Given the description of an element on the screen output the (x, y) to click on. 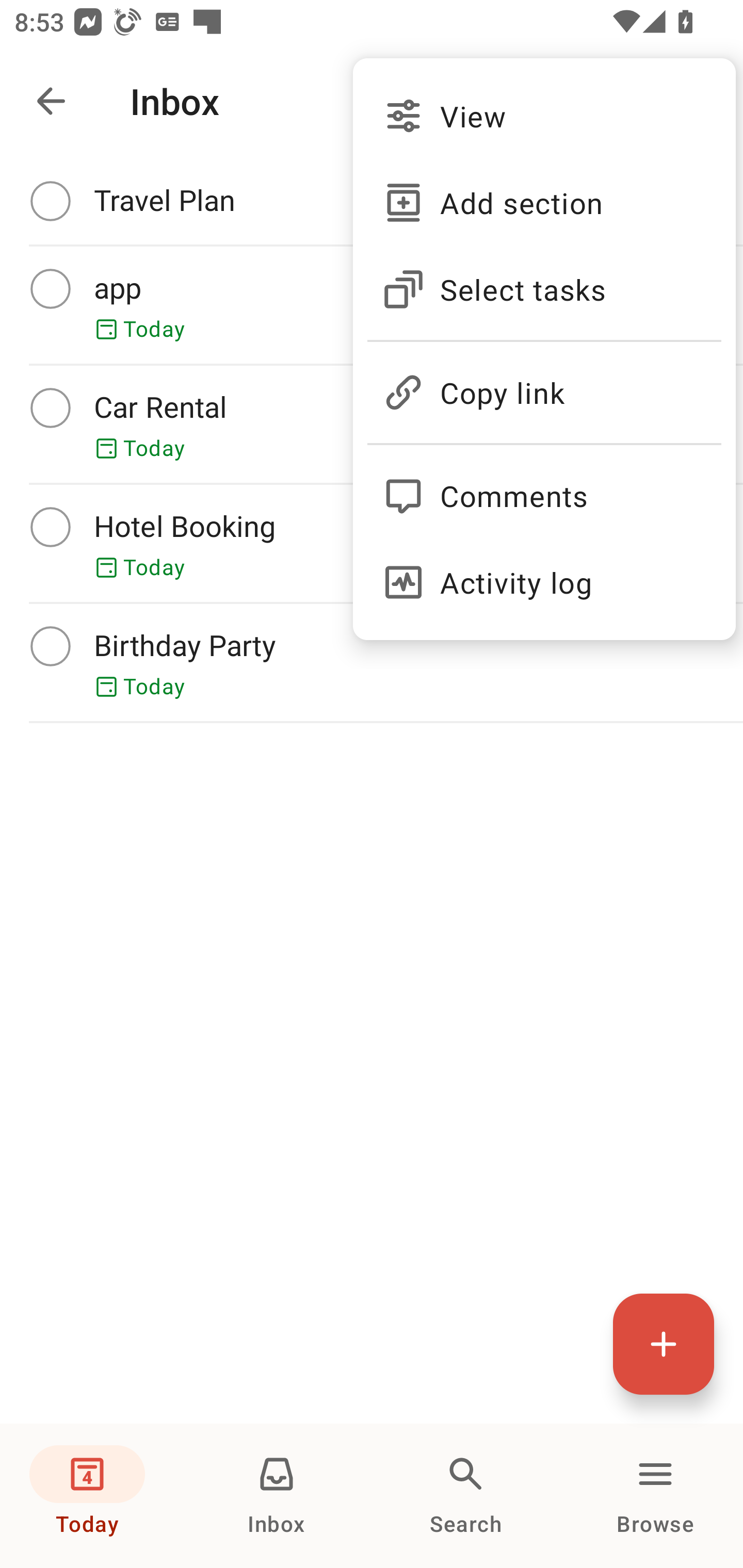
View (544, 115)
Add section (544, 202)
Select tasks (544, 289)
Copy link (544, 383)
Comments (544, 487)
Activity log (544, 582)
